Given the description of an element on the screen output the (x, y) to click on. 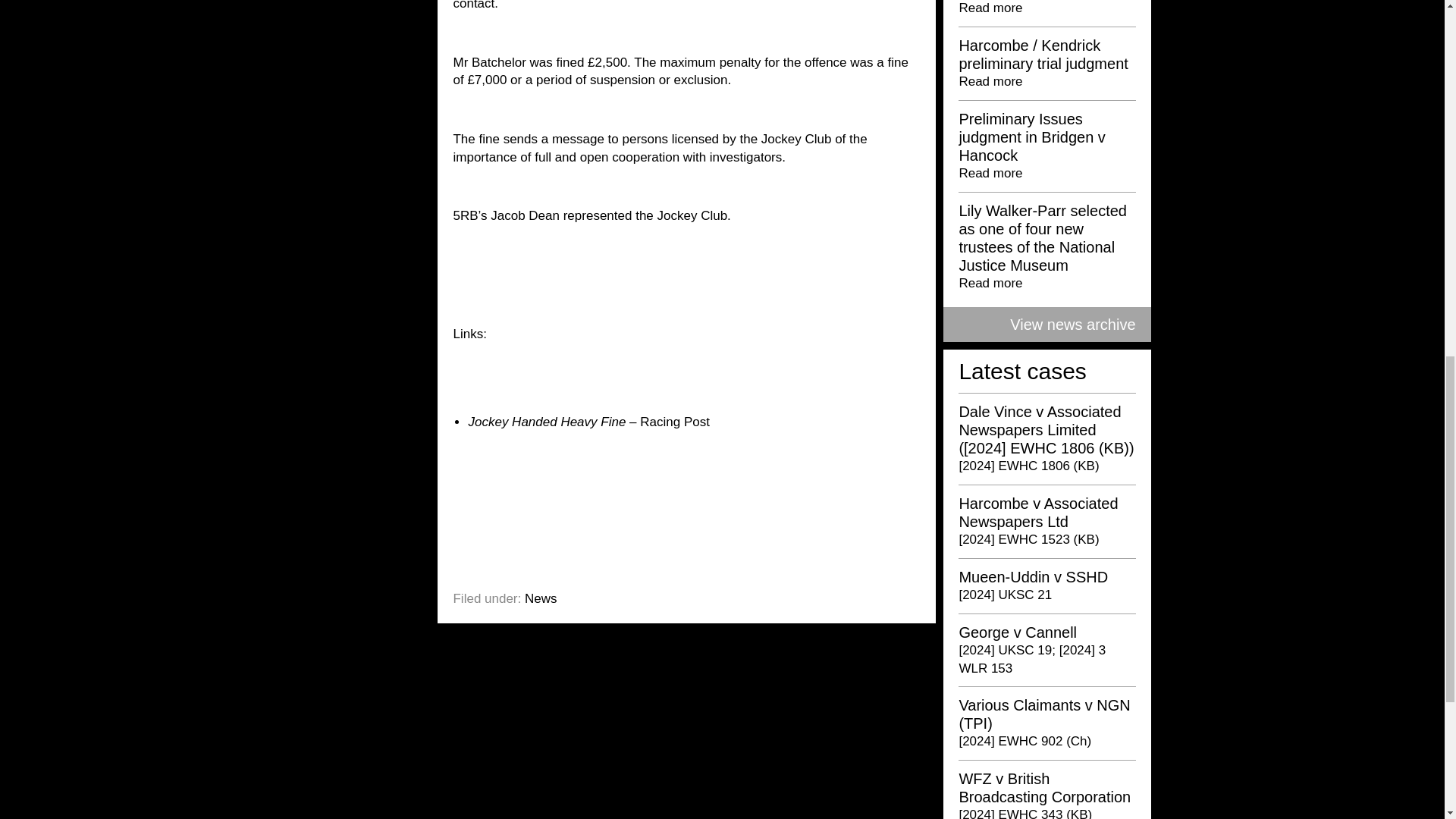
Jacob Dean (524, 215)
Jockey Handed Heavy Fine (546, 421)
News (540, 598)
